Given the description of an element on the screen output the (x, y) to click on. 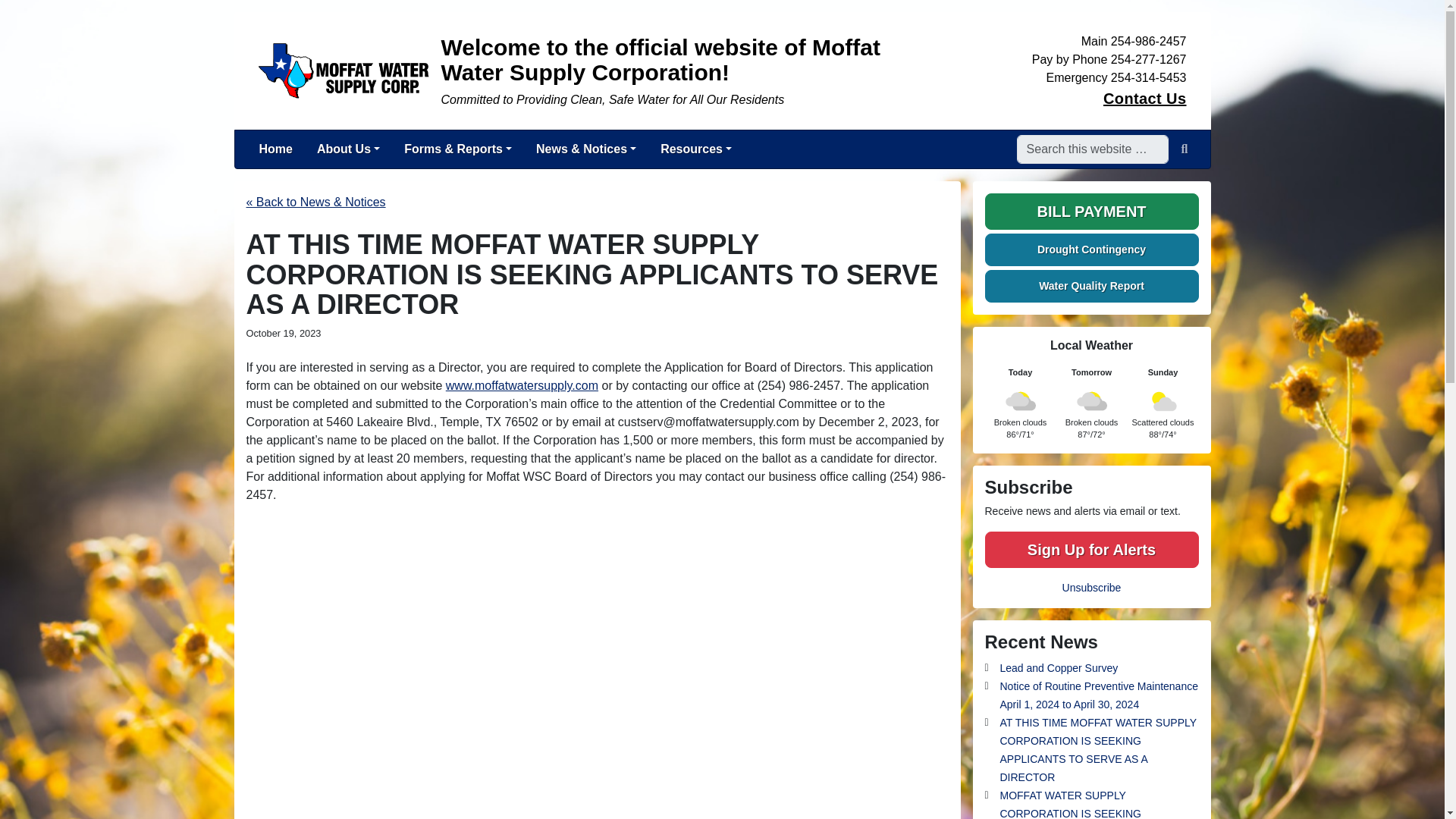
Contact Us (1144, 98)
Water Quality Report (1091, 286)
BOD Application 2024 Election (521, 385)
Home (275, 149)
Lead and Copper Survey (1058, 668)
Drought Contingency (1091, 249)
Unsubscribe (1091, 587)
Search (1185, 149)
www.moffatwatersupply.com (521, 385)
Sign Up for Alerts (1091, 549)
About Us (347, 149)
Resources (695, 149)
BILL PAYMENT (1091, 211)
